Given the description of an element on the screen output the (x, y) to click on. 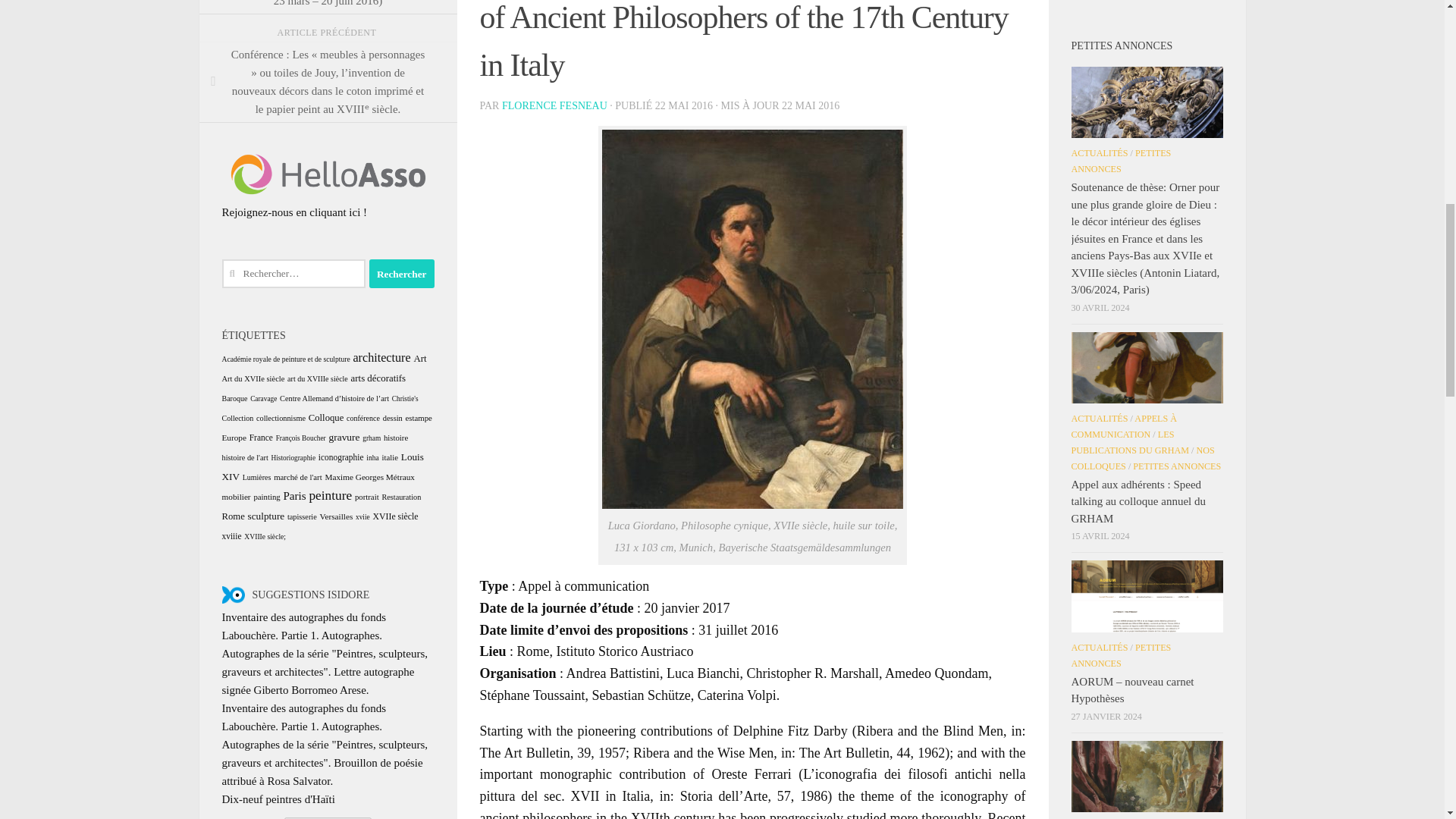
Rechercher (401, 273)
Rechercher (401, 273)
